Given the description of an element on the screen output the (x, y) to click on. 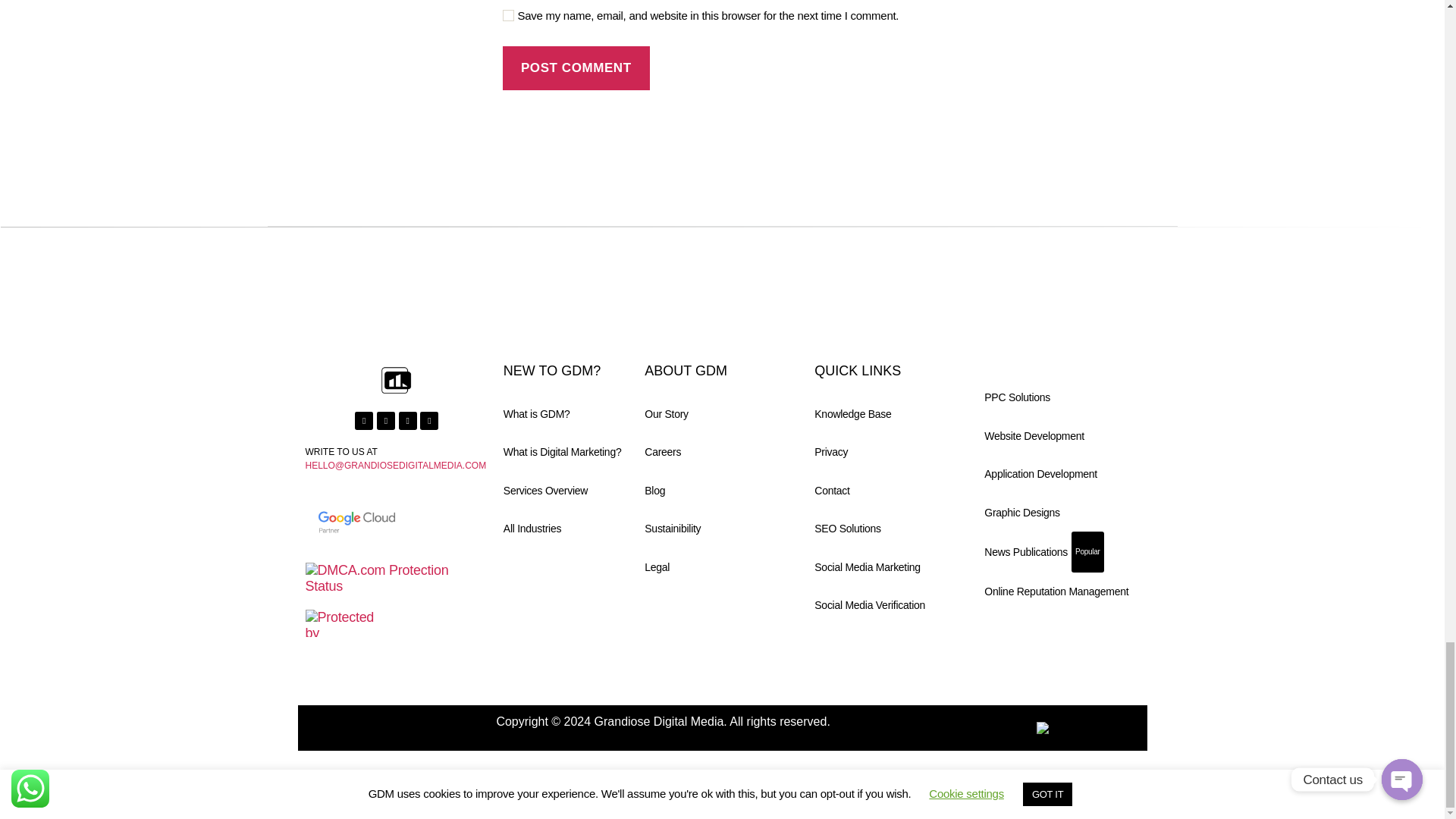
DMCA.com Protection Status (395, 578)
yes (507, 15)
Protected by Copyscape - Do not copy content from this page. (346, 623)
Post Comment (575, 67)
